Given the description of an element on the screen output the (x, y) to click on. 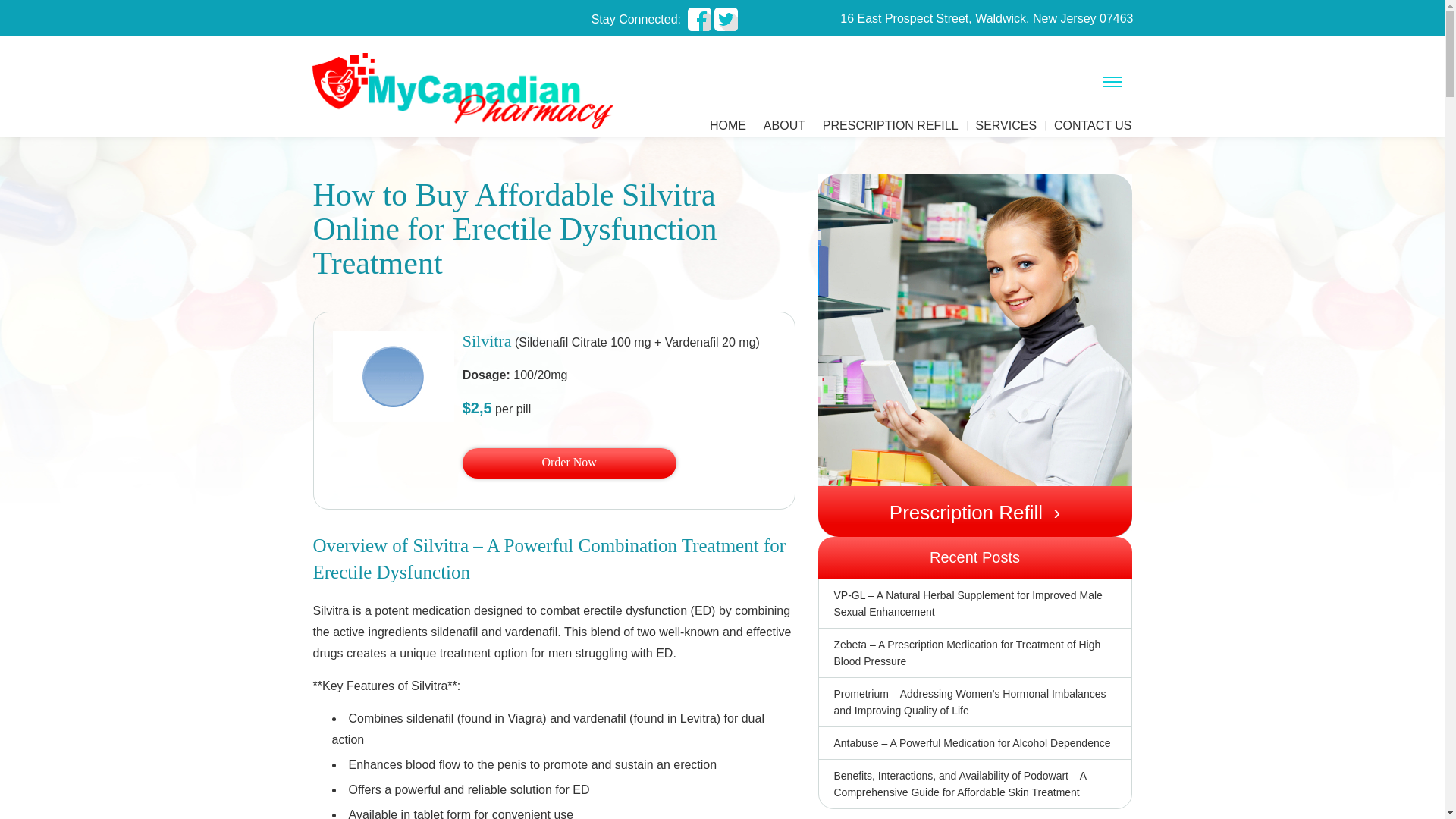
Menu (1112, 85)
PRESCRIPTION REFILL (890, 126)
CONTACT US (1093, 126)
Order Now (570, 462)
ABOUT (783, 126)
My Canadian Pharmacy: The Way to Improve Your Health (462, 61)
SERVICES (1005, 126)
